Given the description of an element on the screen output the (x, y) to click on. 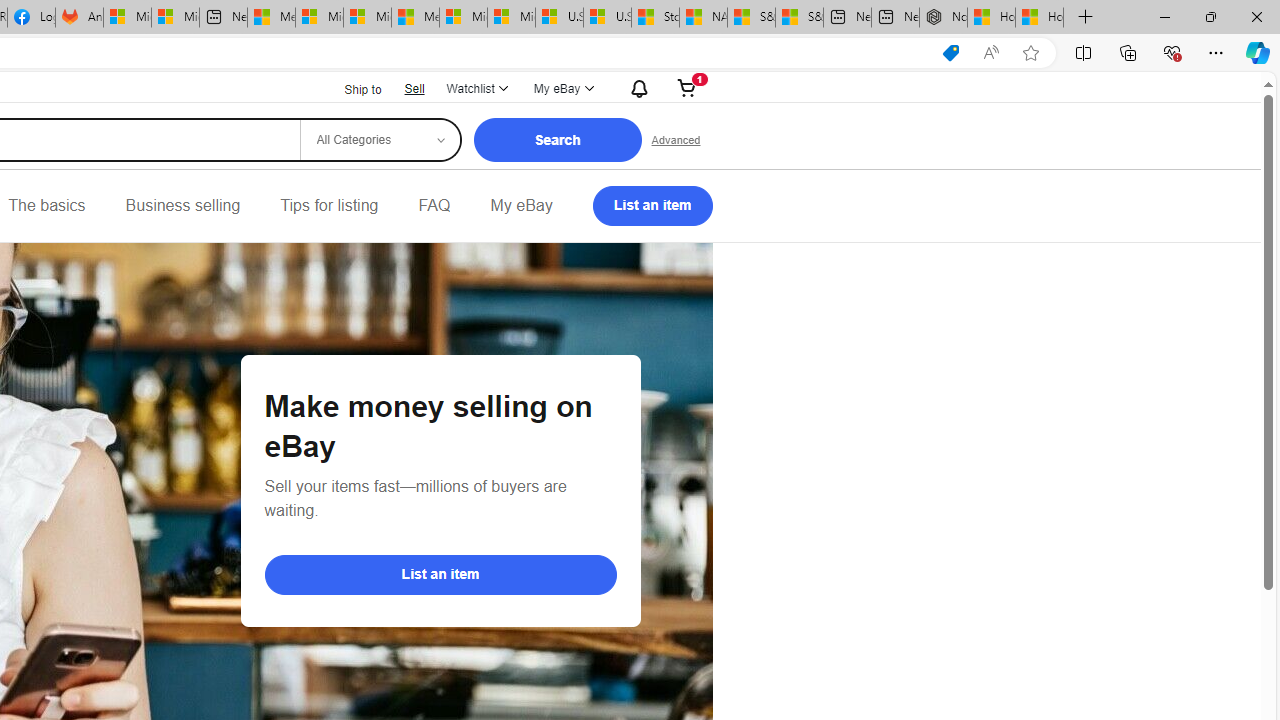
My eBay (521, 205)
WatchlistExpand Watch List (476, 88)
FAQ (434, 205)
Sell (413, 87)
Business selling (182, 205)
FAQ (434, 205)
List an item (651, 205)
Watchlist (476, 88)
The basics (46, 205)
